Given the description of an element on the screen output the (x, y) to click on. 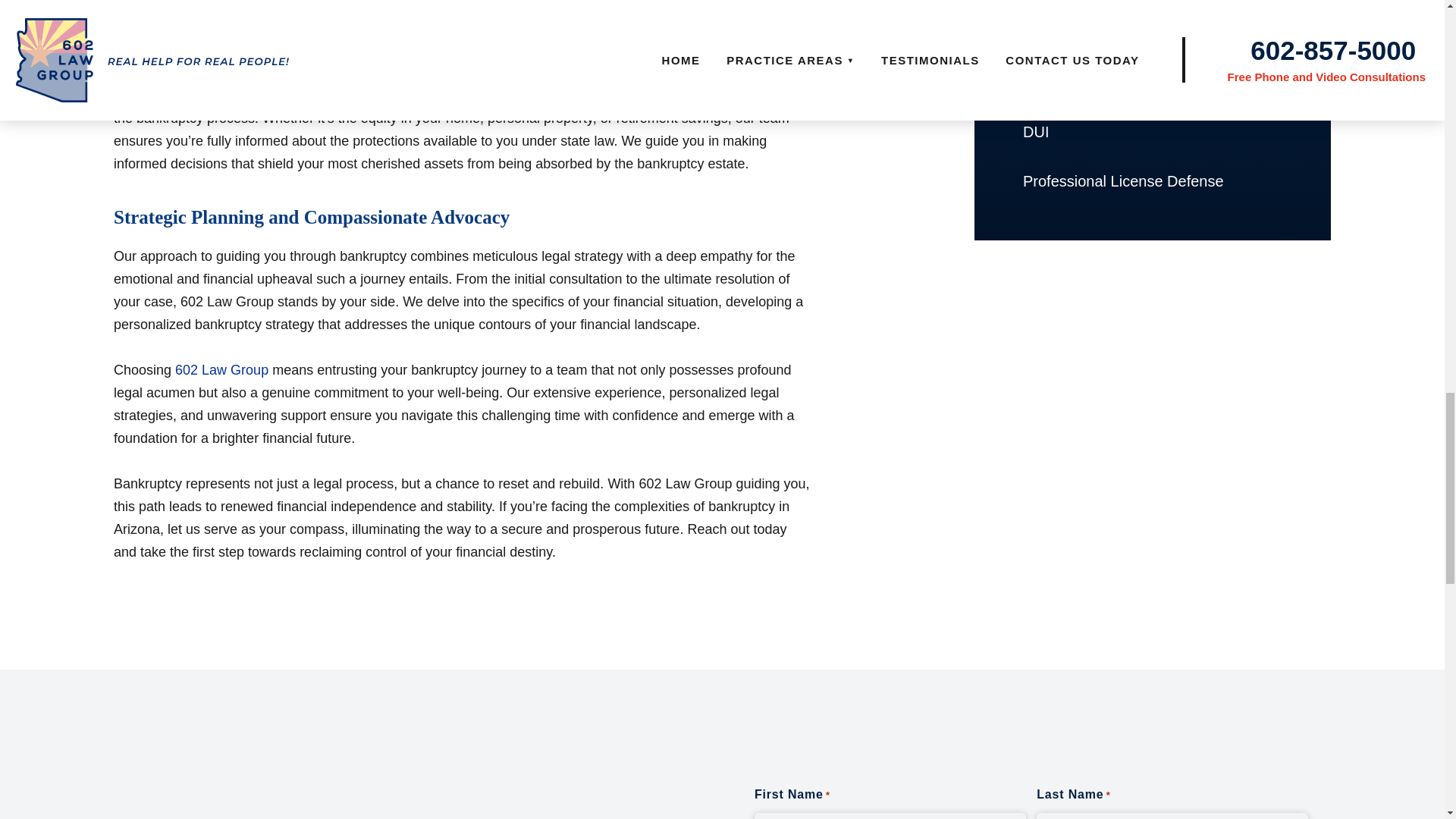
Family Law (1152, 4)
Bankruptcy Law (1152, 33)
DUI (1152, 132)
Professional License Defense (1152, 181)
602 Law Group (220, 369)
Criminal Defense (1152, 82)
